Given the description of an element on the screen output the (x, y) to click on. 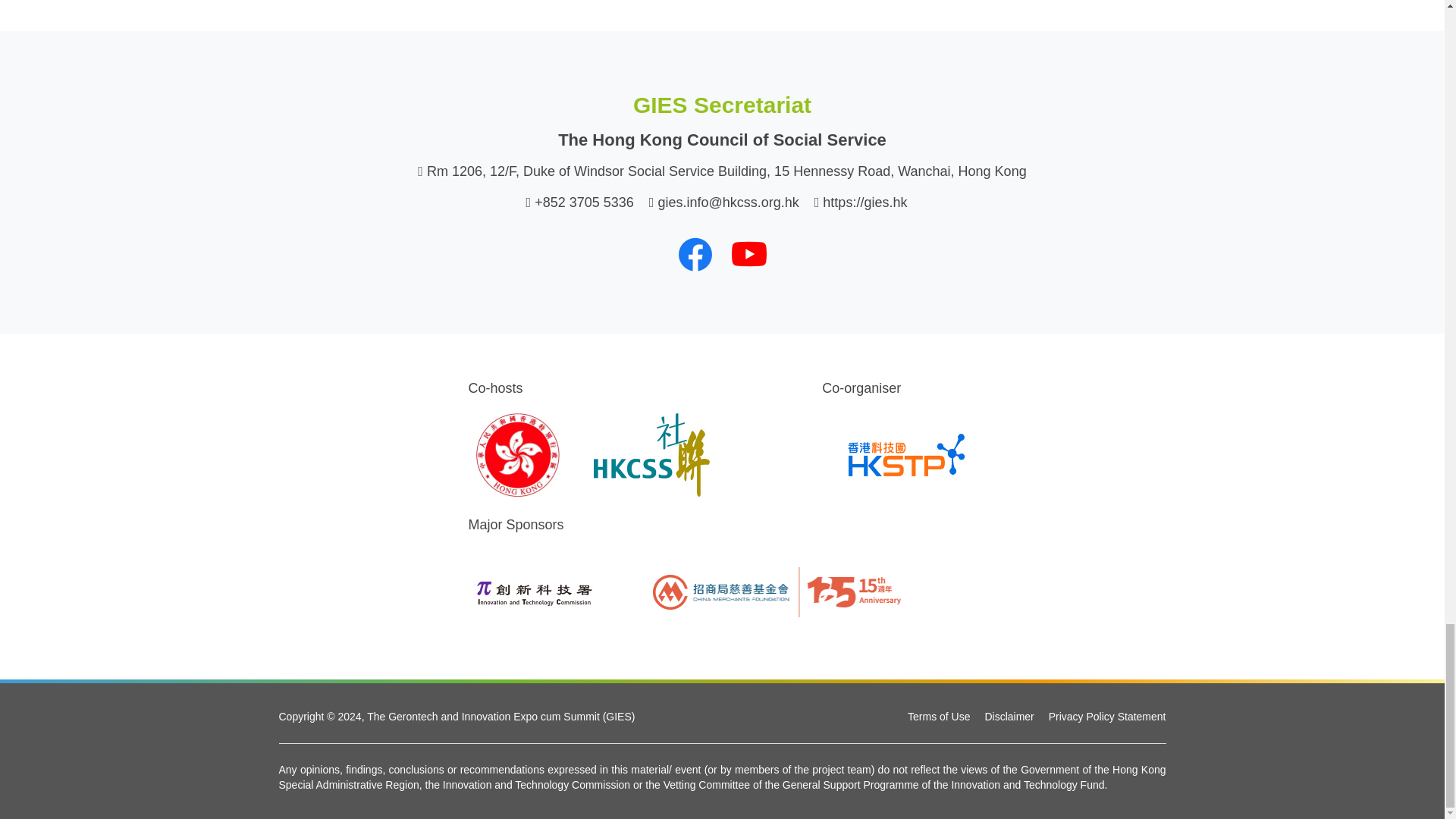
Our Facebook (695, 253)
Our Youtube Channel (748, 253)
